Given the description of an element on the screen output the (x, y) to click on. 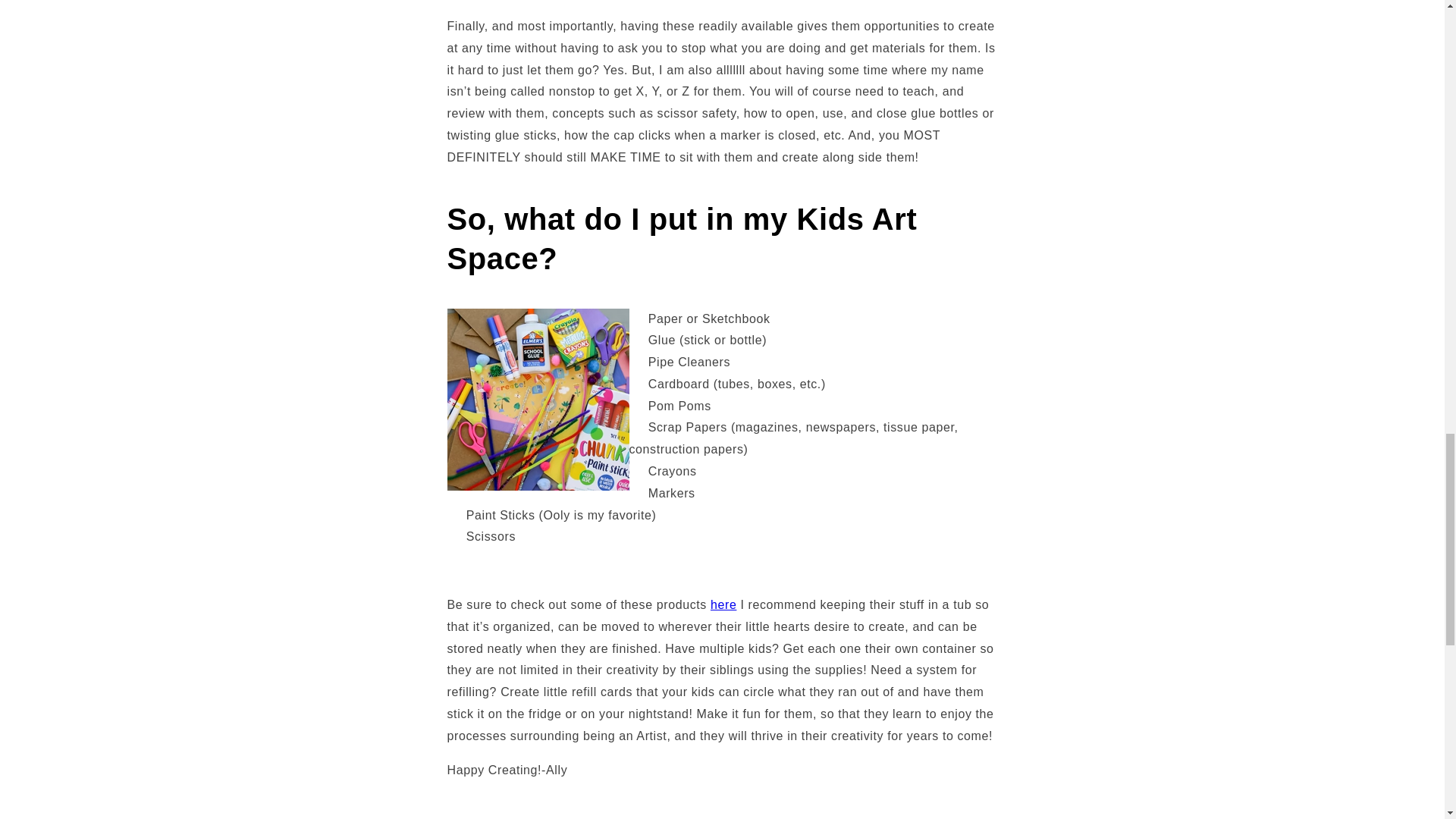
here (723, 604)
Kid-Friendly Art Supplies (723, 604)
